Given the description of an element on the screen output the (x, y) to click on. 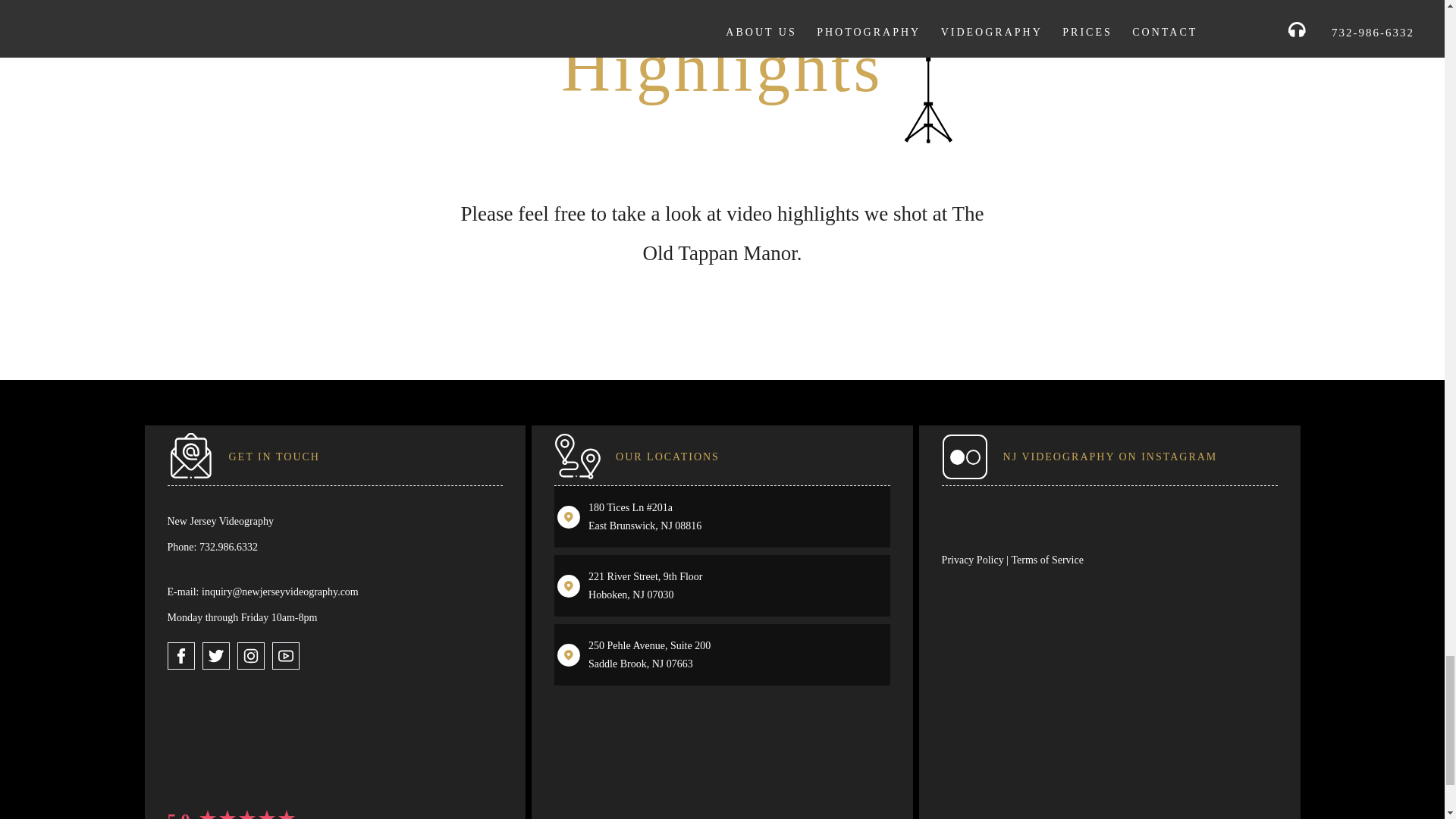
youtube (284, 655)
DMCA.com Protection Status (213, 736)
twitter (215, 655)
instagram (249, 655)
facebook (180, 655)
